Given the description of an element on the screen output the (x, y) to click on. 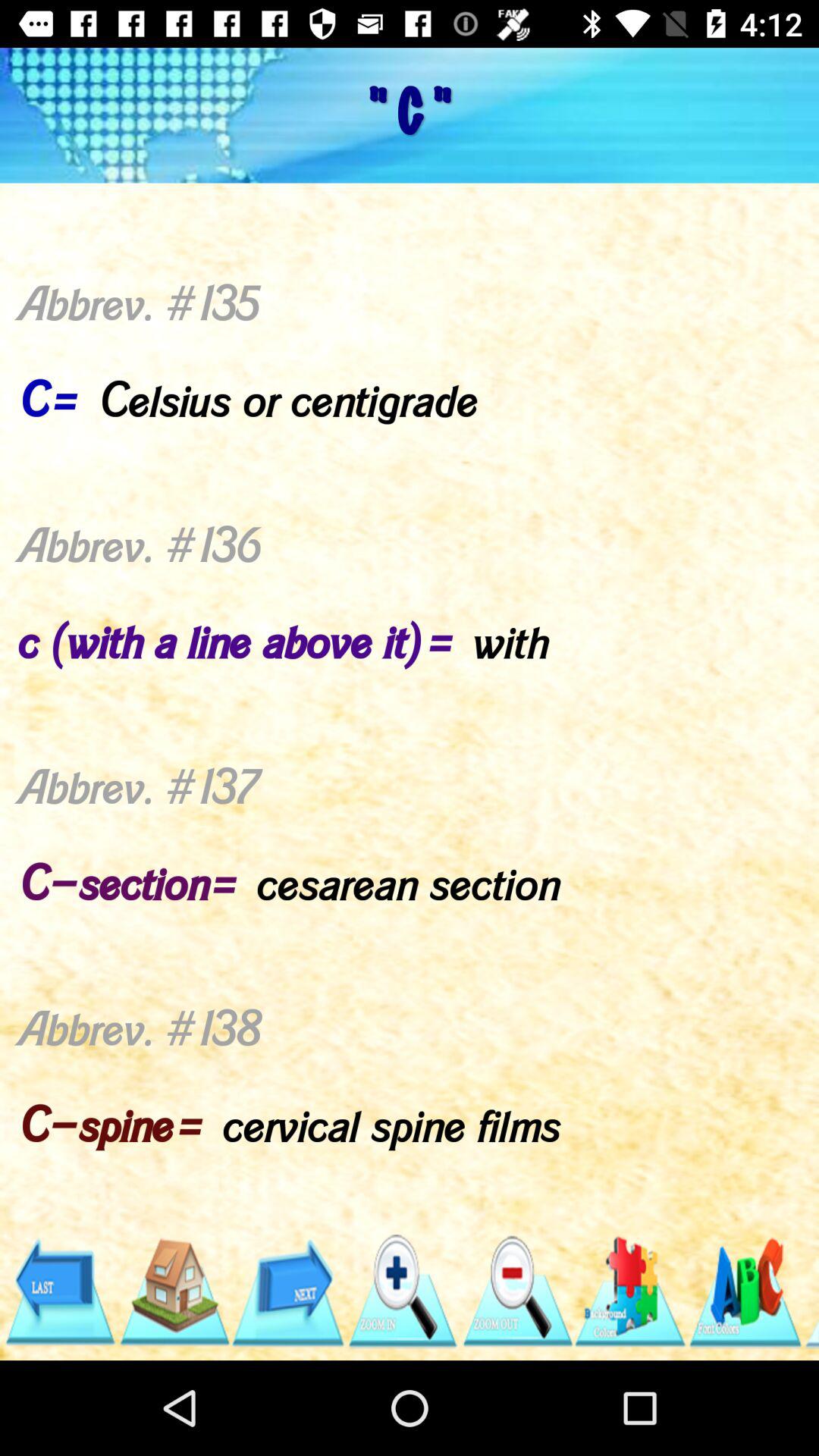
select app below abbrev 	135	 	c	 icon (402, 1291)
